Given the description of an element on the screen output the (x, y) to click on. 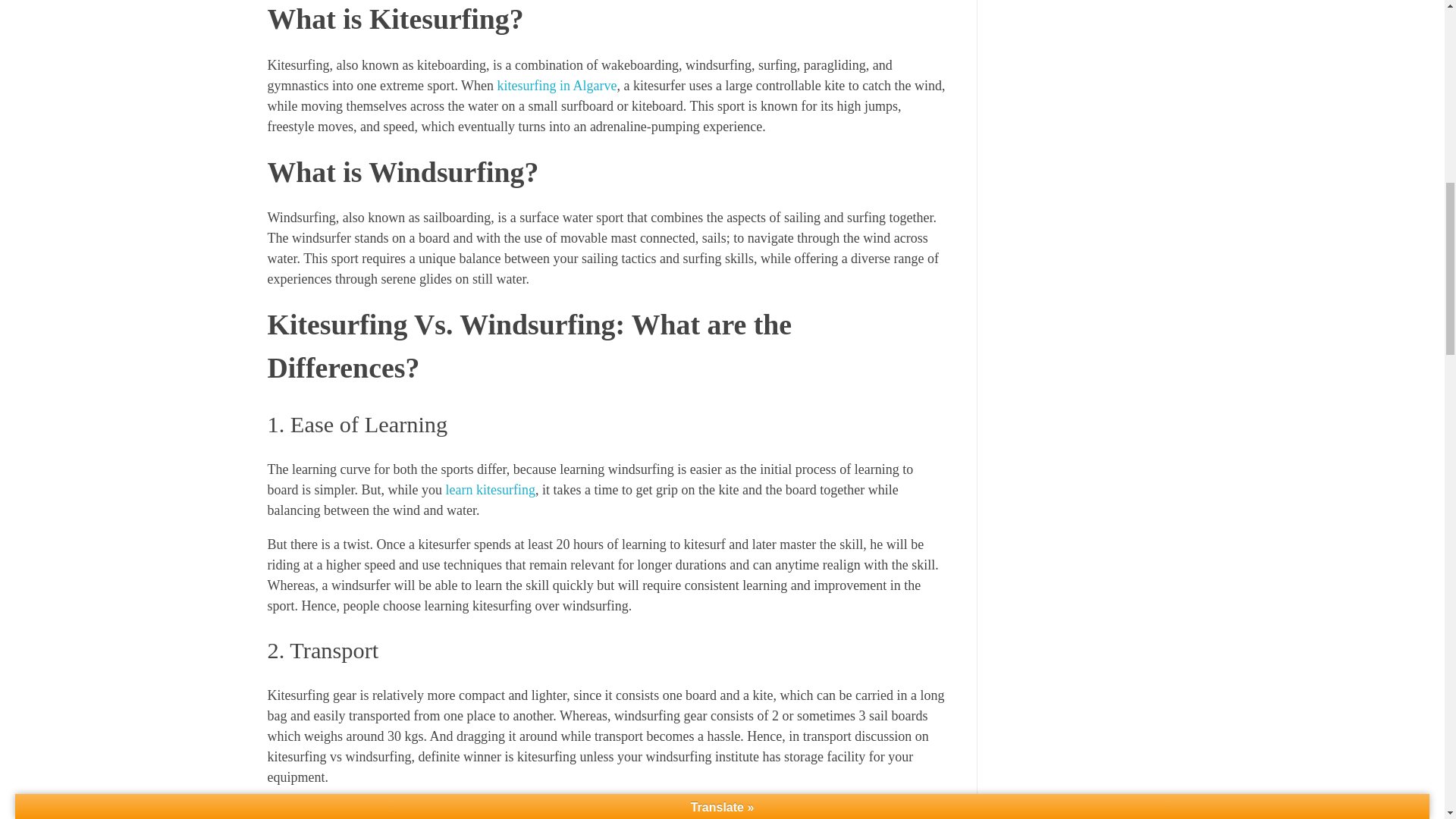
kitesurfing in Algarve (557, 85)
learn kitesurfing (489, 489)
